Given the description of an element on the screen output the (x, y) to click on. 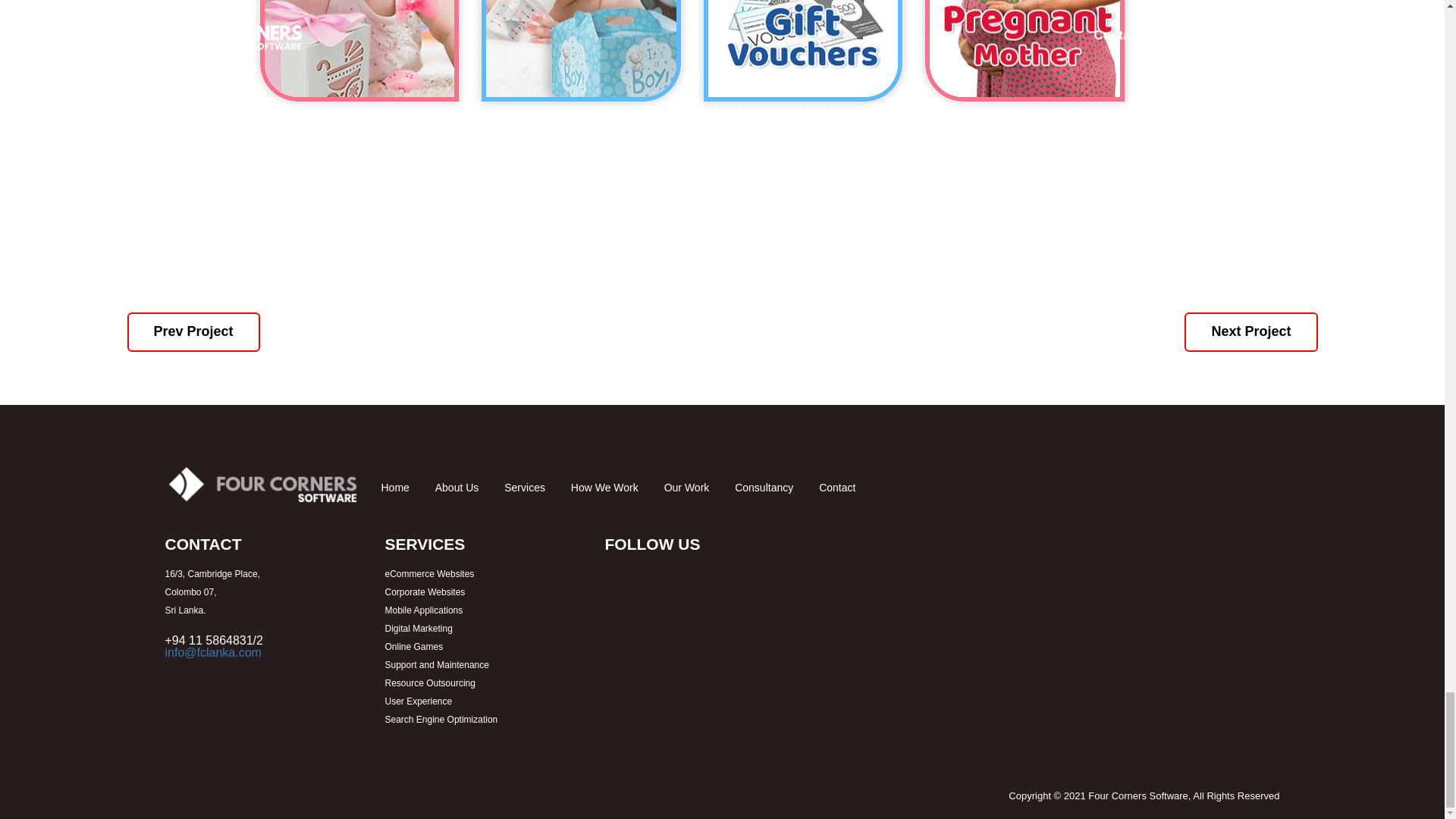
Corporate Websites (425, 592)
Online Games (414, 646)
Next Project (1251, 332)
eCommerce Websites (429, 573)
Prev Project (194, 332)
Contact (837, 487)
Mobile Applications (424, 610)
Home (394, 487)
Support and Maintenance (437, 665)
Our Work (686, 487)
Services (523, 487)
Four Corners Lanka (261, 485)
Digital Marketing (418, 628)
About Us (457, 487)
How We Work (604, 487)
